Given the description of an element on the screen output the (x, y) to click on. 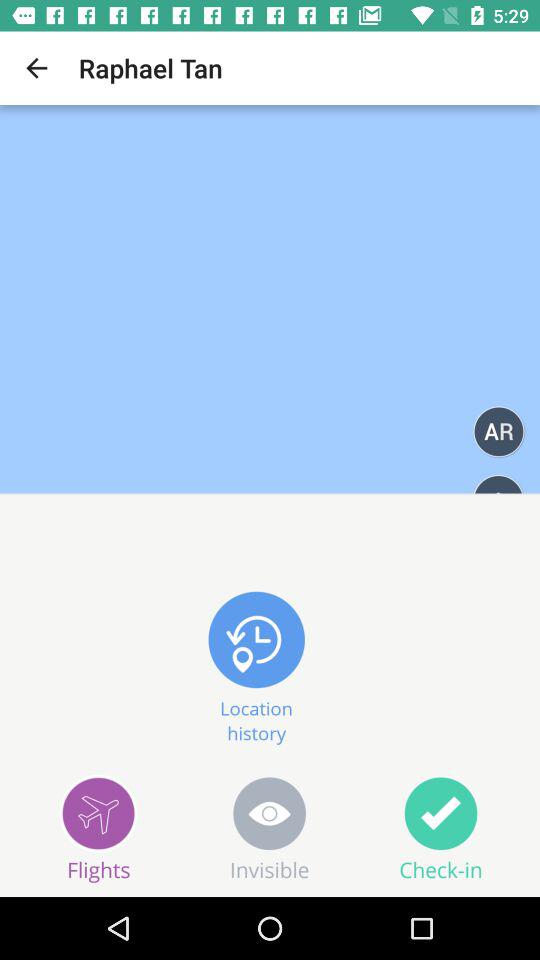
click the 2 alphabet text below raphael tan at right of it (498, 431)
click on invisible icon (269, 827)
click on location history (256, 664)
